Given the description of an element on the screen output the (x, y) to click on. 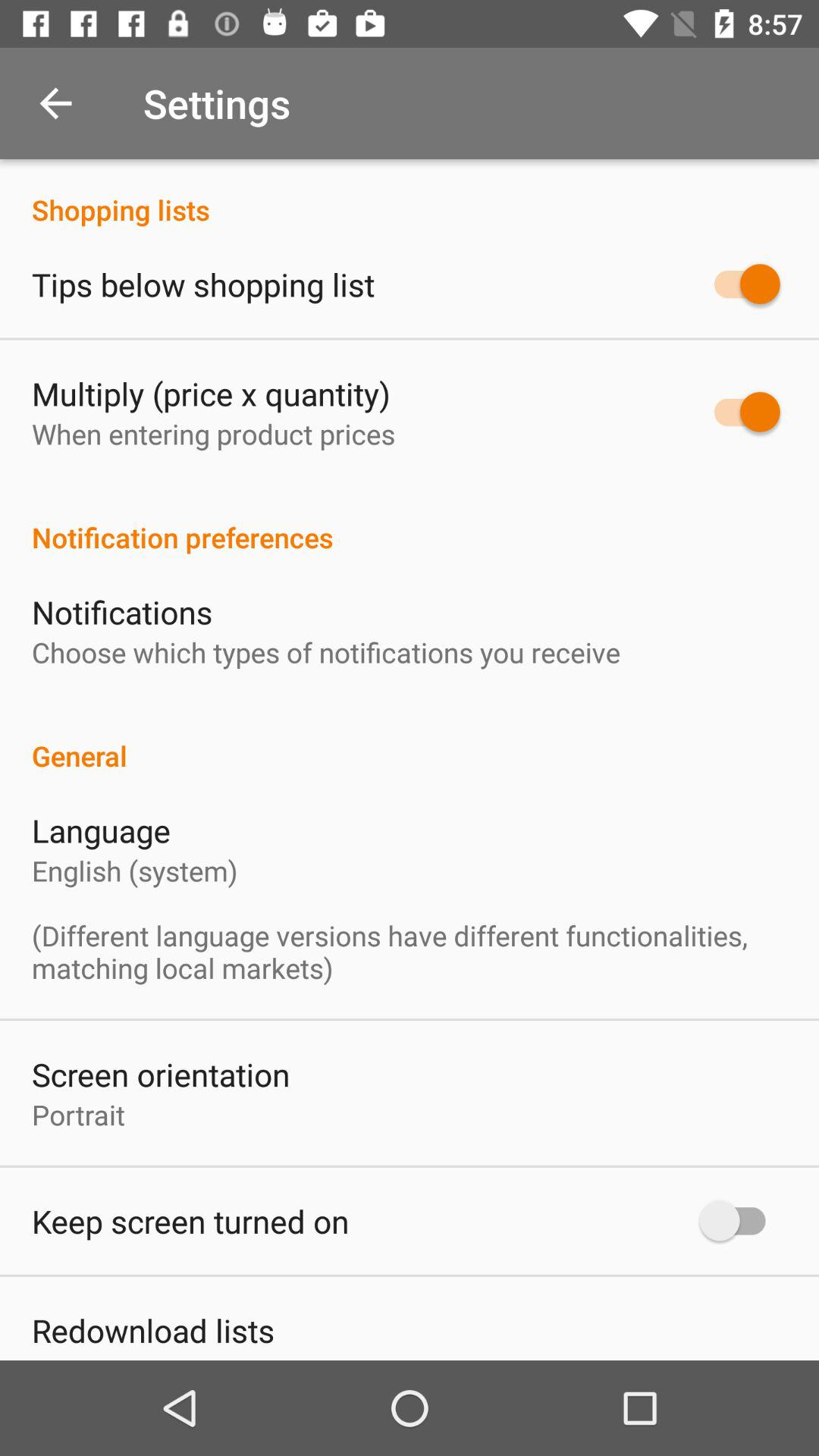
jump to the screen orientation item (160, 1073)
